Given the description of an element on the screen output the (x, y) to click on. 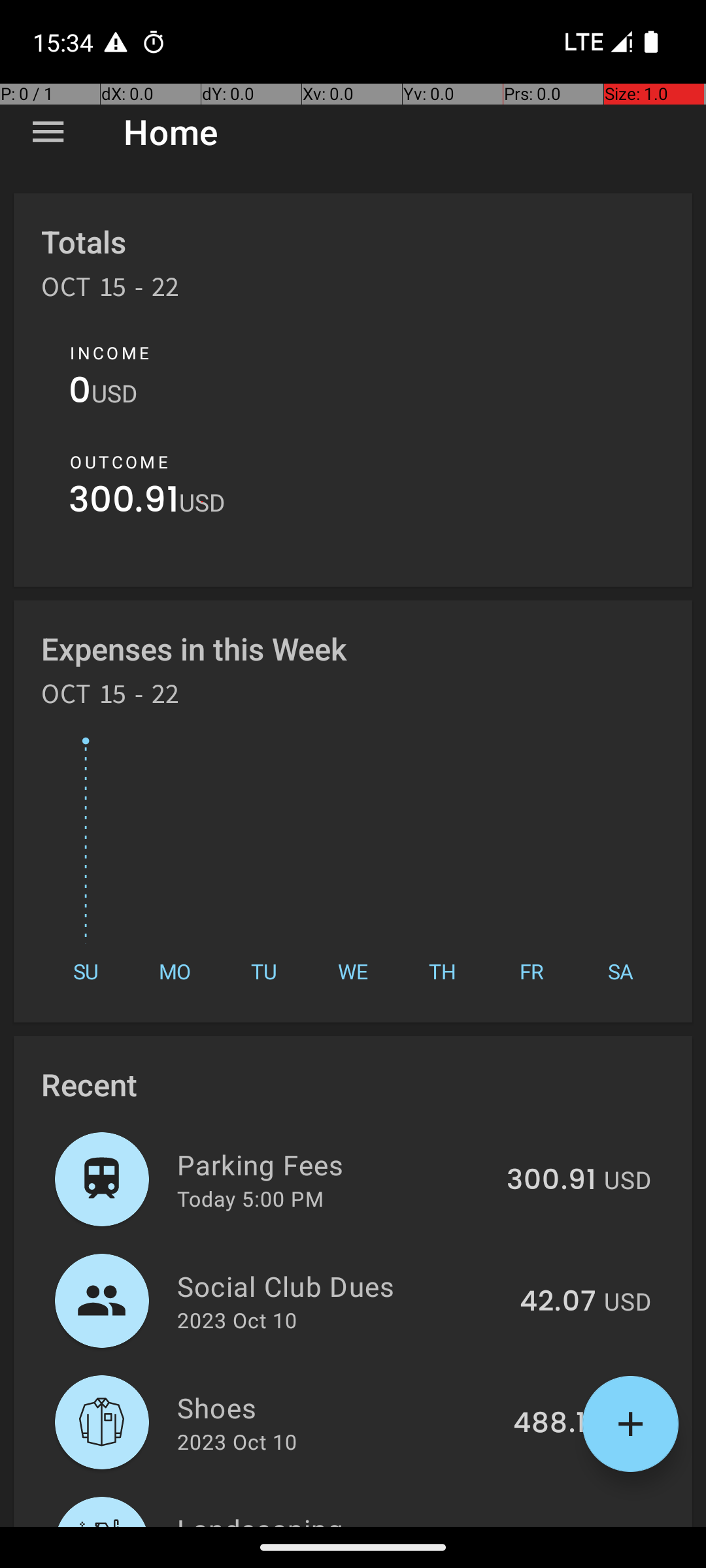
Totals Element type: android.widget.TextView (83, 240)
OCT 15 - 22 Element type: android.widget.TextView (110, 291)
INCOME Element type: android.widget.TextView (109, 352)
USD Element type: android.widget.TextView (114, 392)
OUTCOME Element type: android.widget.TextView (118, 461)
300.91 Element type: android.widget.TextView (123, 502)
Expenses in this Week Element type: android.widget.TextView (194, 648)
Recent Element type: android.widget.TextView (89, 1083)
Parking Fees Element type: android.widget.TextView (334, 1164)
Today 5:00 PM Element type: android.widget.TextView (250, 1198)
Social Club Dues Element type: android.widget.TextView (340, 1285)
2023 Oct 10 Element type: android.widget.TextView (236, 1320)
42.07 Element type: android.widget.TextView (557, 1301)
Shoes Element type: android.widget.TextView (337, 1407)
488.11 Element type: android.widget.TextView (554, 1423)
Landscaping Element type: android.widget.TextView (334, 1518)
405.13 Element type: android.widget.TextView (550, 1524)
